Given the description of an element on the screen output the (x, y) to click on. 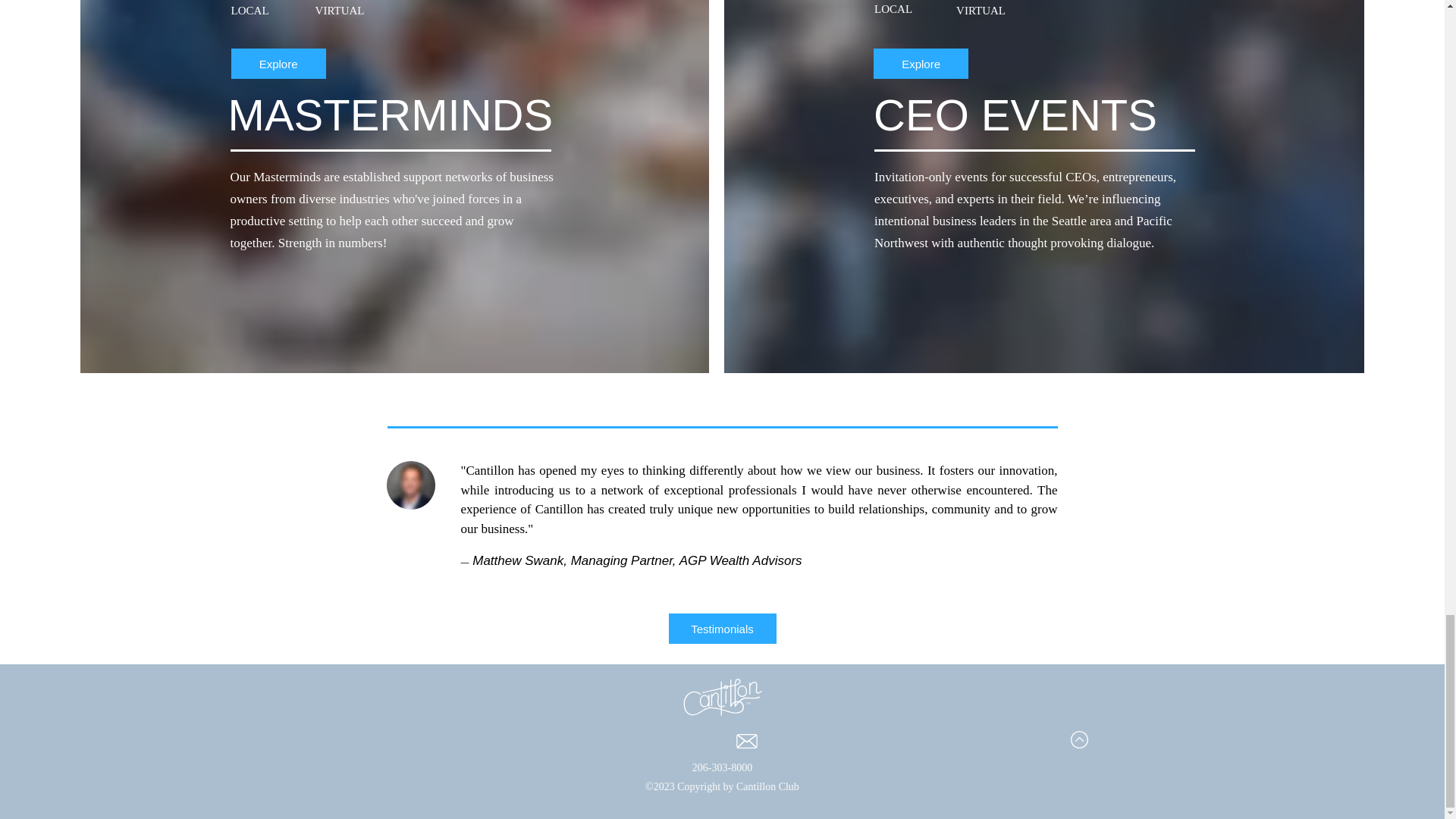
Explore (920, 63)
VIRTUAL (393, 12)
LOCAL (947, 12)
Testimonials (722, 628)
Explore (278, 63)
LOCAL (268, 12)
VIRTUAL (1034, 12)
